Given the description of an element on the screen output the (x, y) to click on. 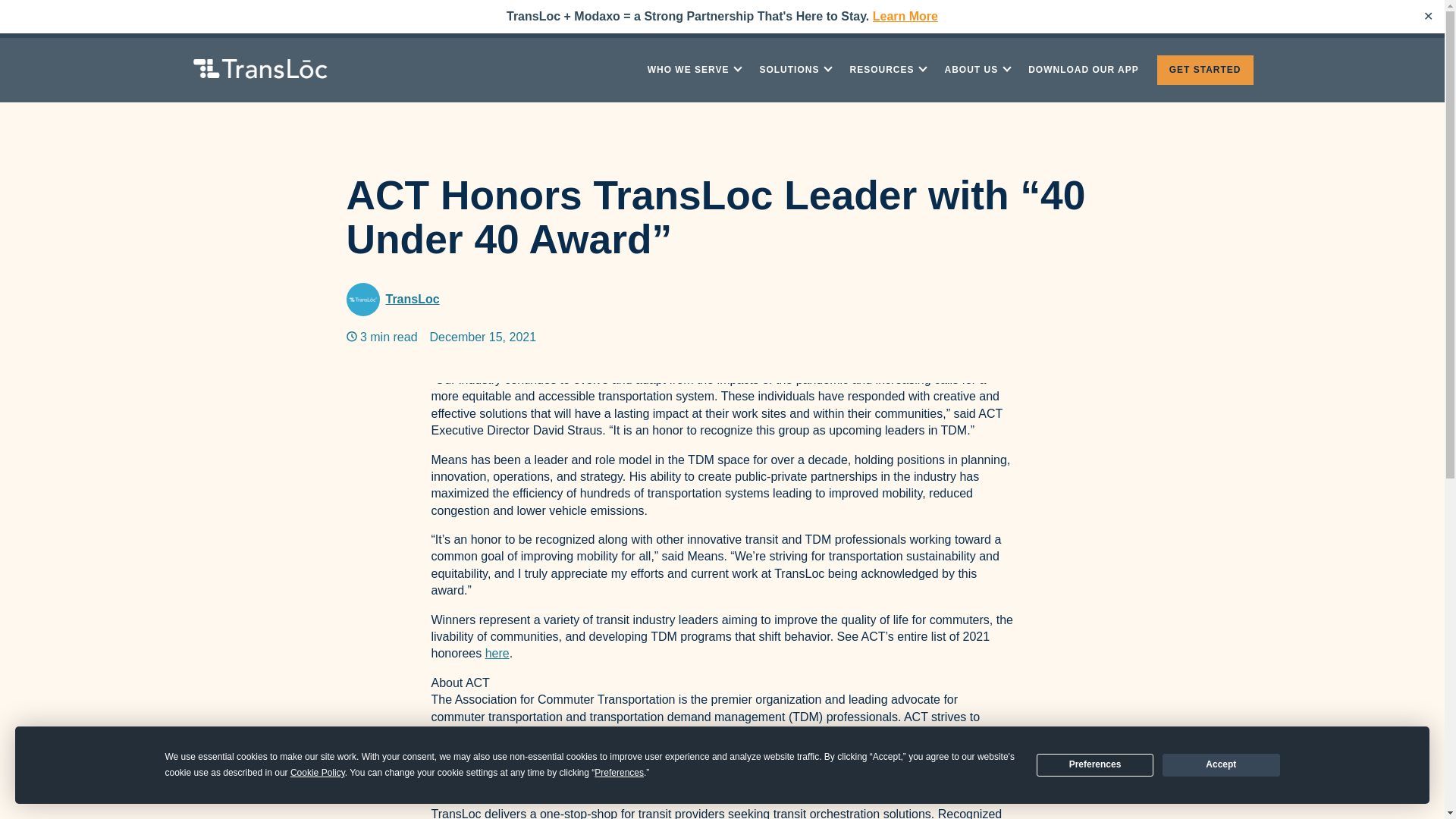
here (496, 653)
TransLoc (412, 299)
Log into your account (1185, 18)
DOWNLOAD OUR APP (1083, 70)
Accept (1220, 765)
SKIP TO CONTENT (24, 52)
SOLUTIONS (794, 70)
ABOUT US (976, 70)
Learn More (904, 15)
GET STARTED (1205, 70)
